Given the description of an element on the screen output the (x, y) to click on. 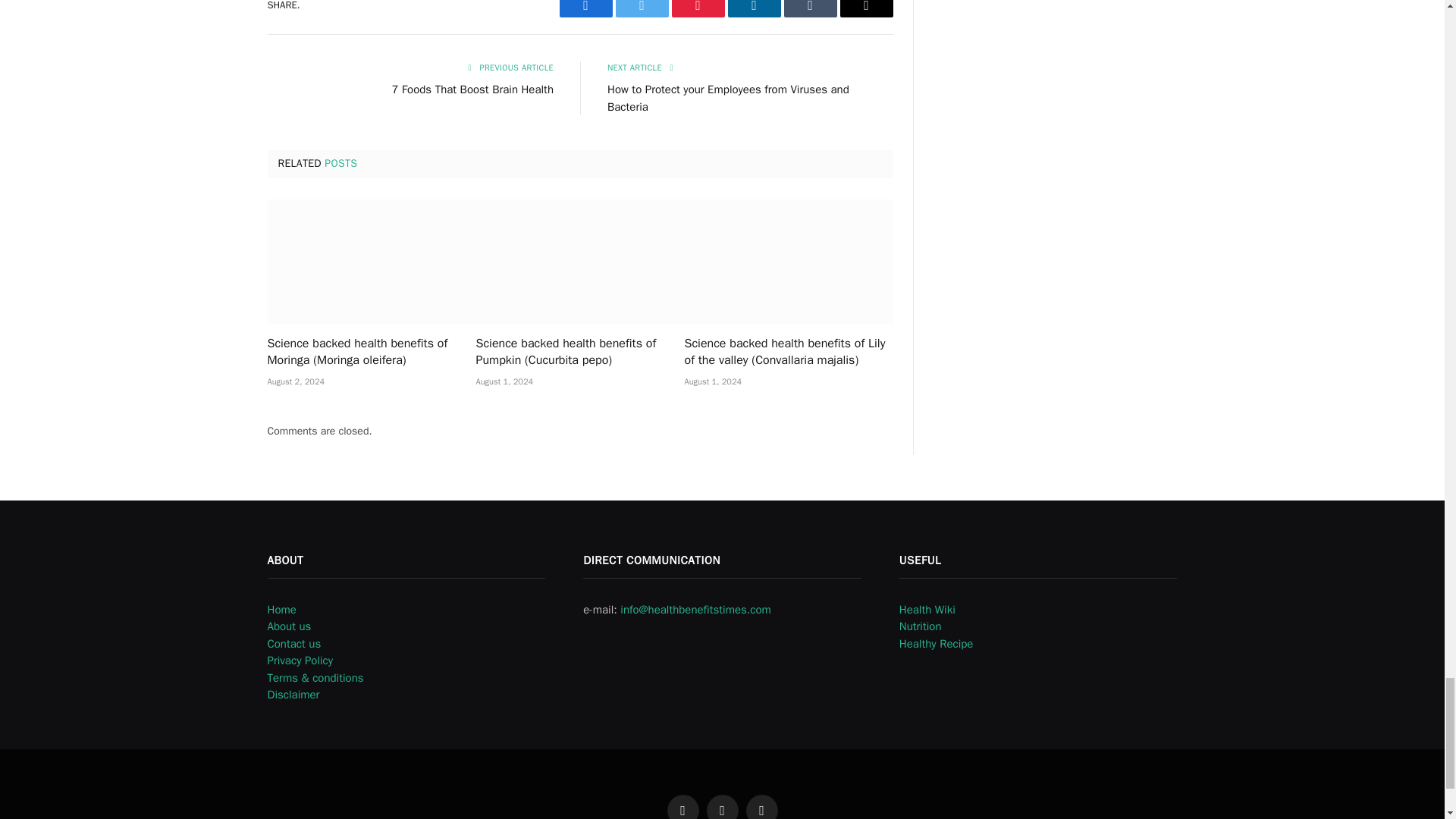
Share on Pinterest (698, 8)
Share on Twitter (641, 8)
Share on Tumblr (810, 8)
Share on LinkedIn (754, 8)
Share on Facebook (585, 8)
